Given the description of an element on the screen output the (x, y) to click on. 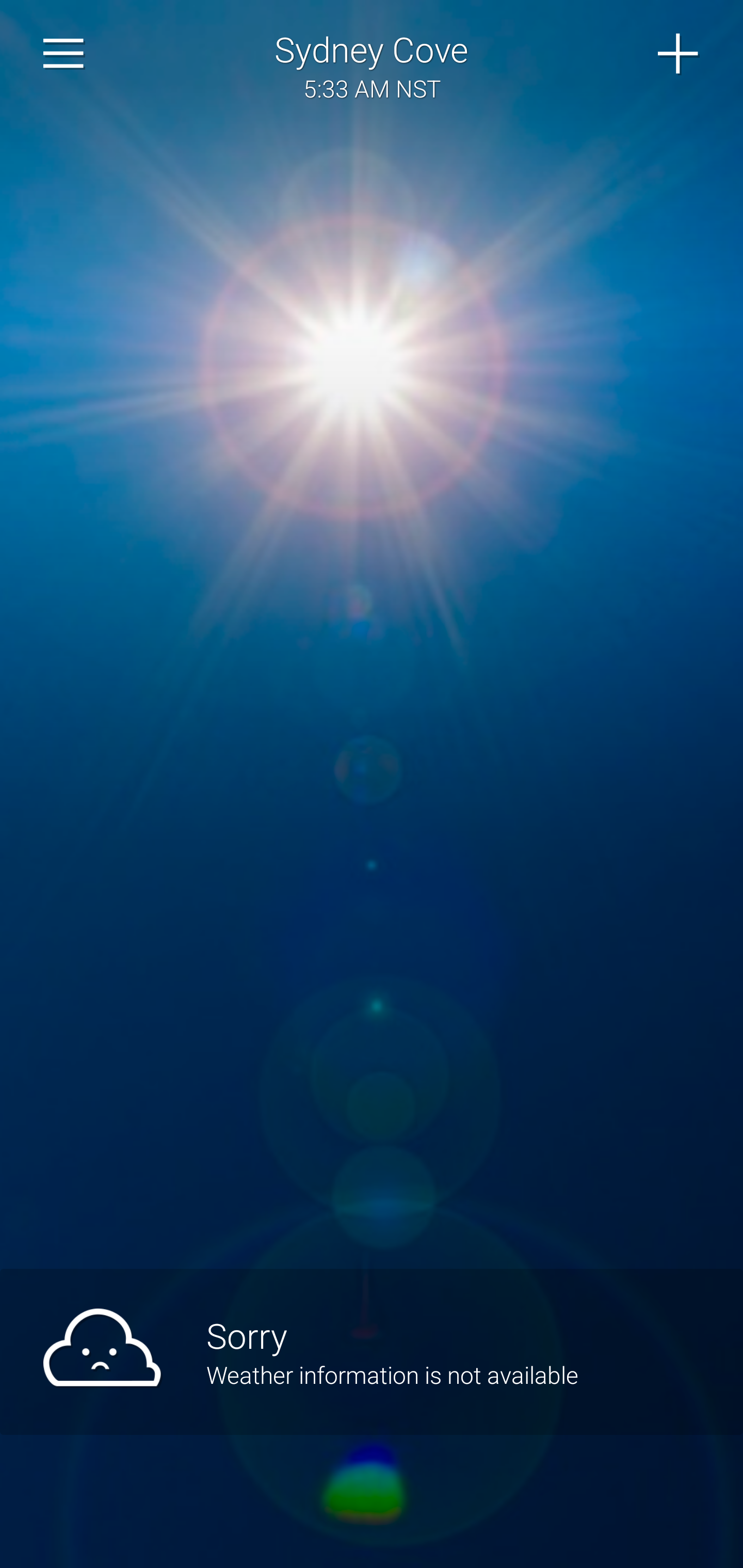
Sidebar (64, 54)
Add City (678, 53)
